Given the description of an element on the screen output the (x, y) to click on. 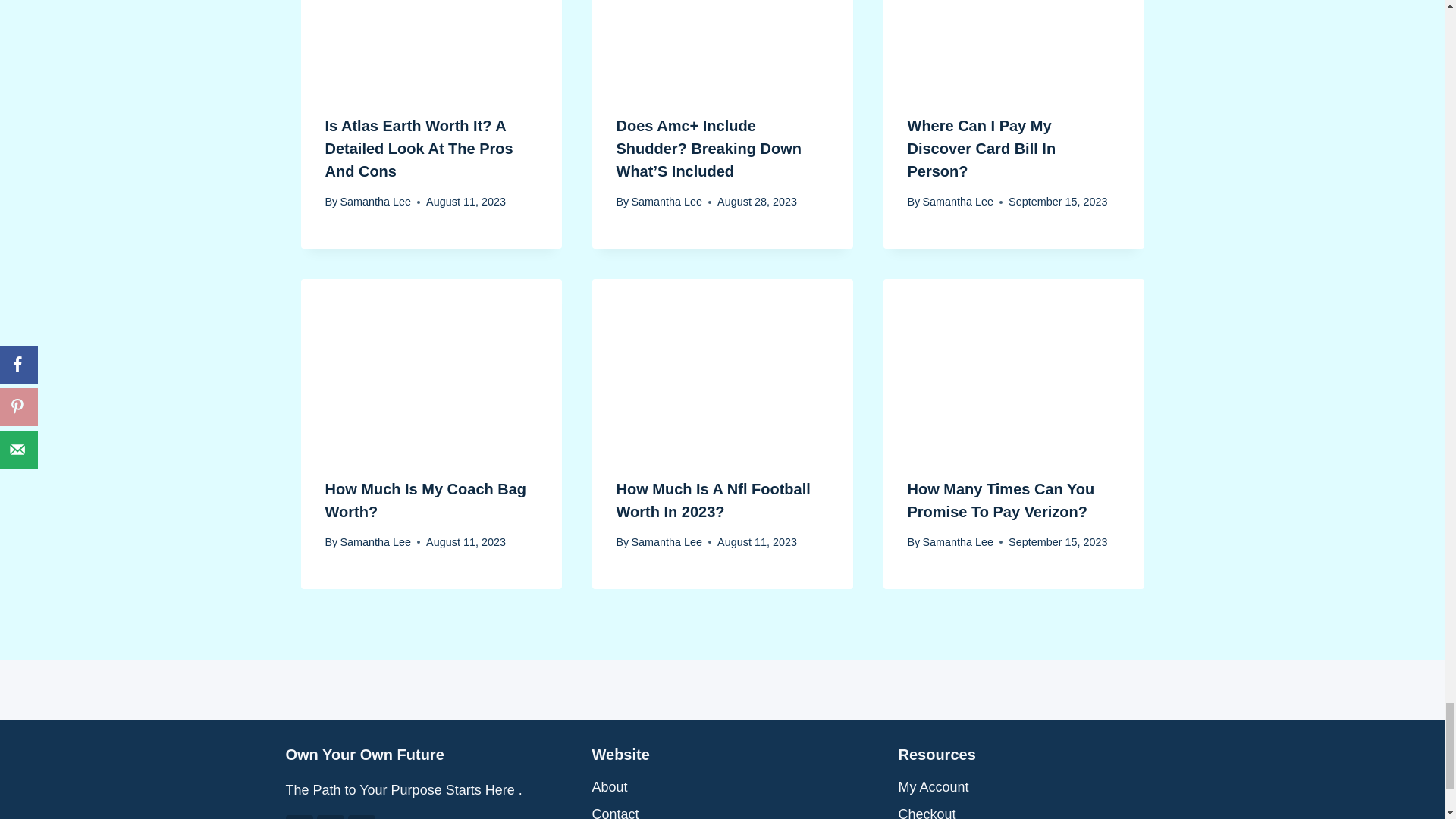
Samantha Lee (665, 201)
Samantha Lee (956, 201)
Samantha Lee (374, 201)
Where Can I Pay My Discover Card Bill In Person? (981, 148)
